Given the description of an element on the screen output the (x, y) to click on. 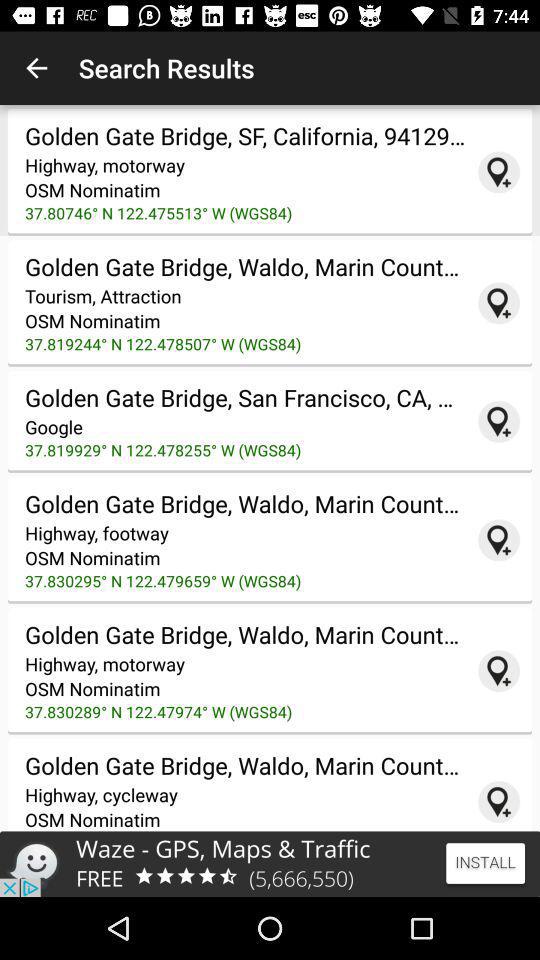
add location (499, 421)
